Given the description of an element on the screen output the (x, y) to click on. 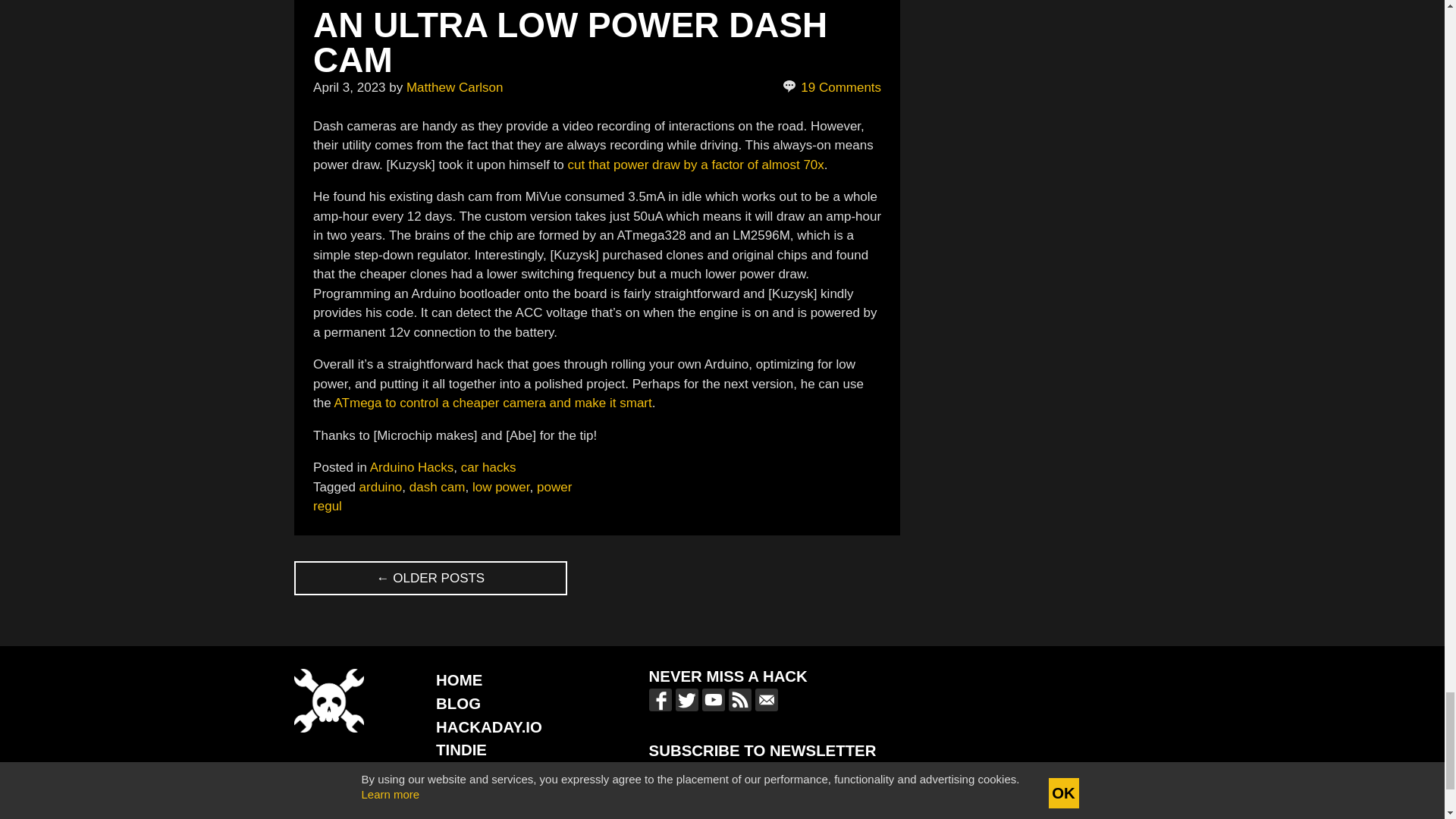
Posts by Matthew Carlson (454, 87)
April 3, 2023 - 4:00 pm (349, 87)
Subscribe (874, 776)
